Given the description of an element on the screen output the (x, y) to click on. 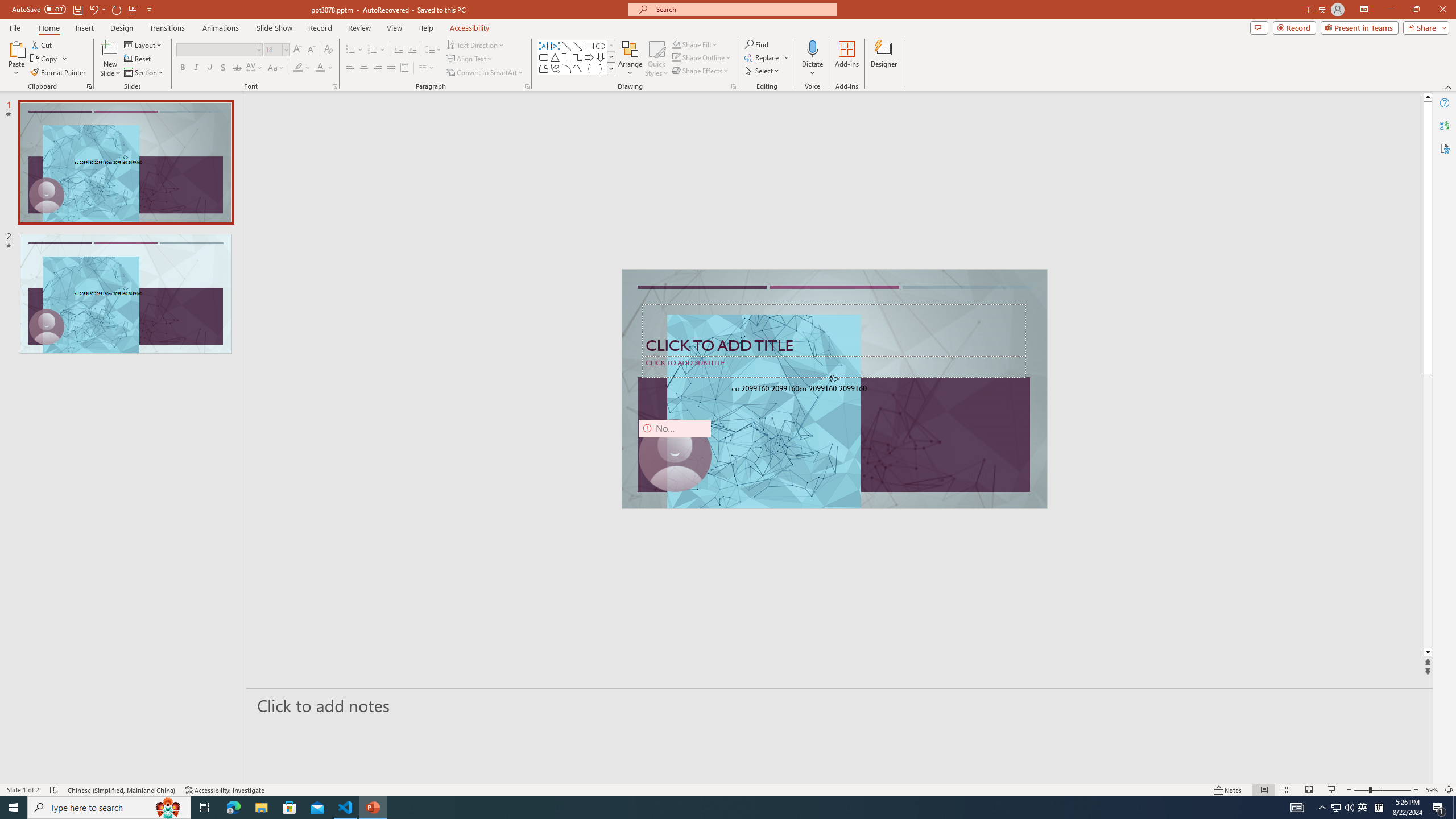
Zoom 59% (1431, 790)
